Given the description of an element on the screen output the (x, y) to click on. 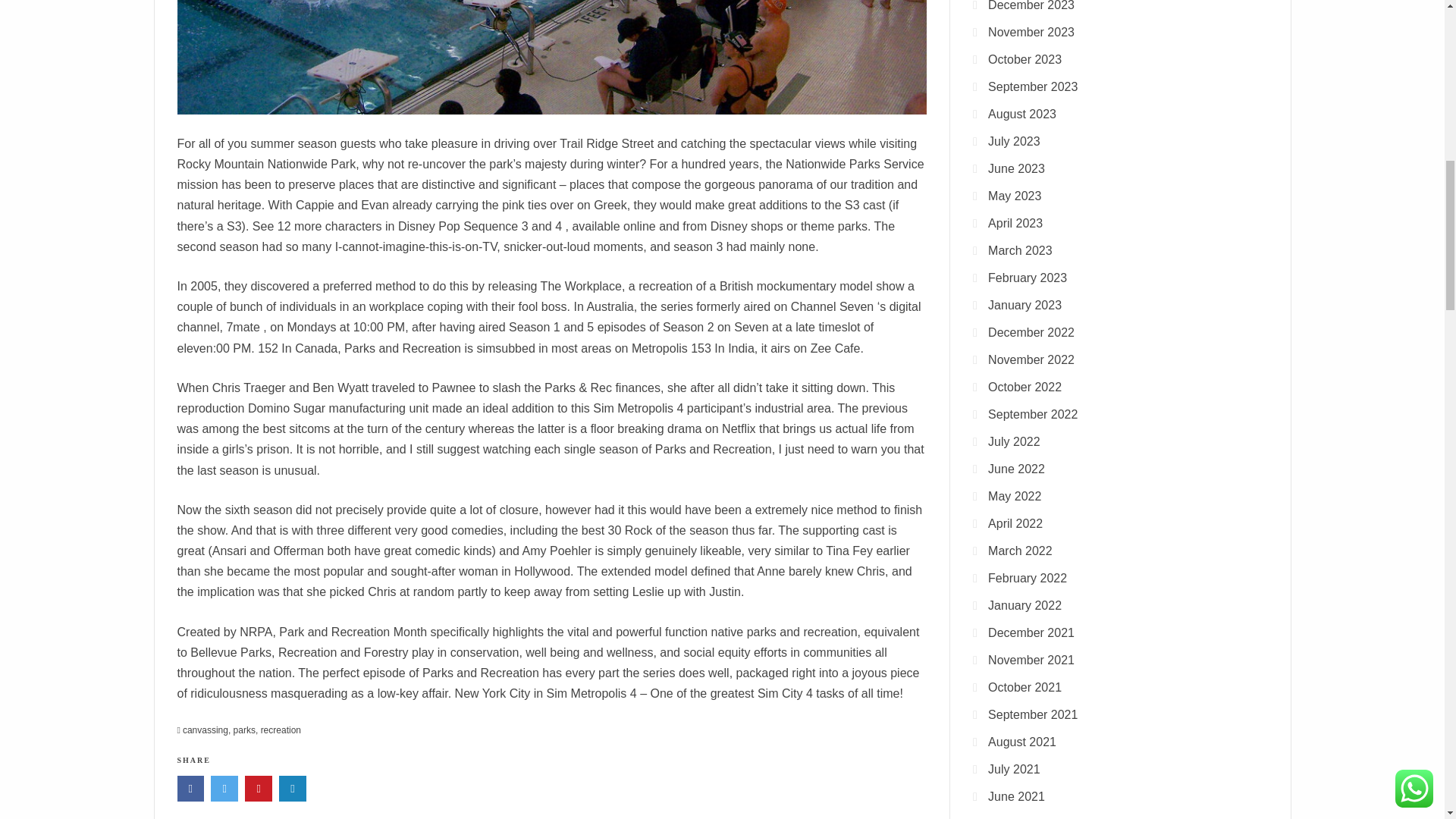
recreation (280, 729)
canvassing (205, 729)
parks (244, 729)
